Given the description of an element on the screen output the (x, y) to click on. 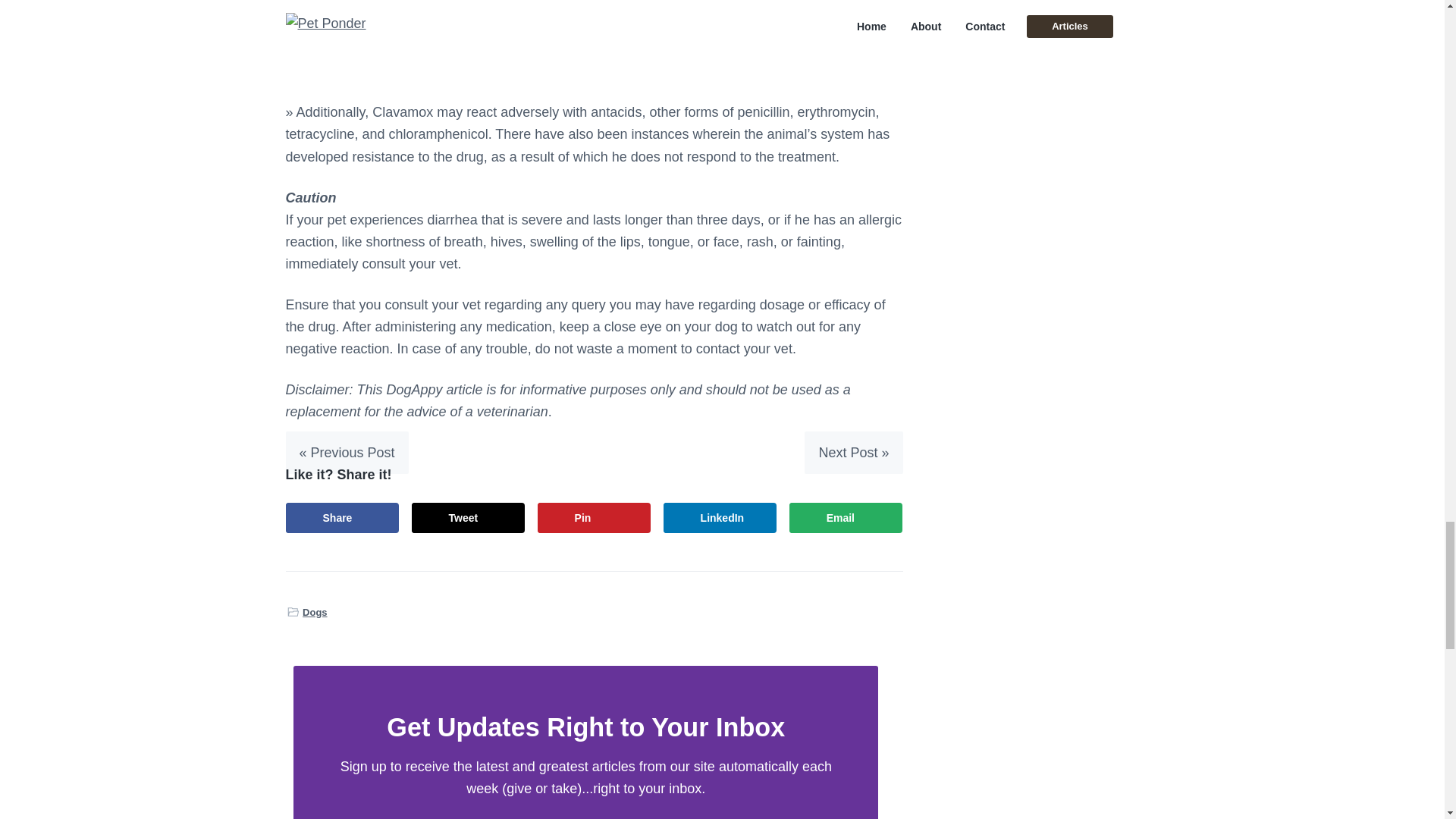
Email (845, 517)
Pin (593, 517)
LinkedIn (720, 517)
Share on X (468, 517)
Share on Facebook (341, 517)
Share on LinkedIn (720, 517)
Share (341, 517)
Save to Pinterest (593, 517)
Tweet (468, 517)
Send over email (845, 517)
